Given the description of an element on the screen output the (x, y) to click on. 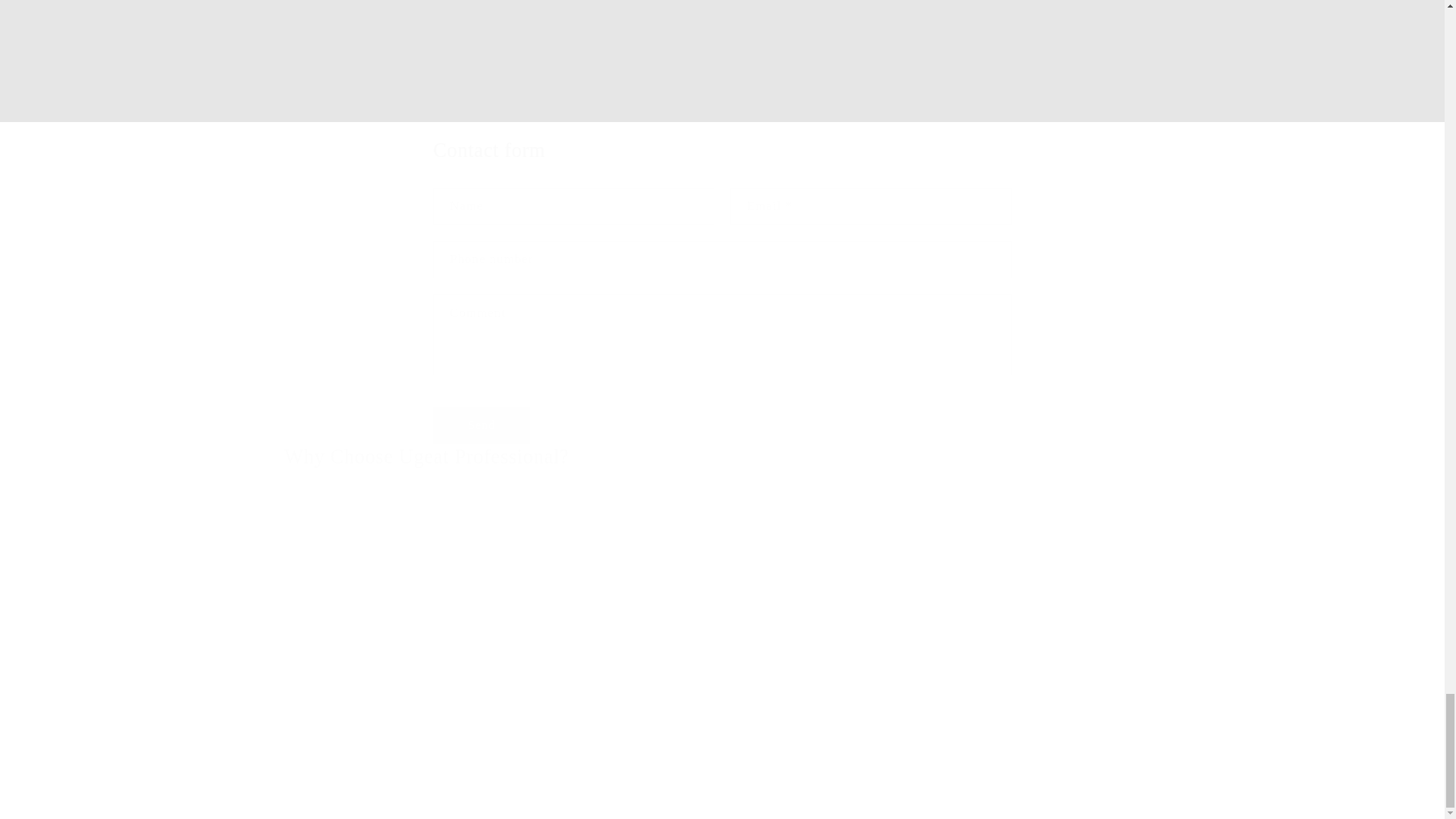
Contact form (721, 150)
